Given the description of an element on the screen output the (x, y) to click on. 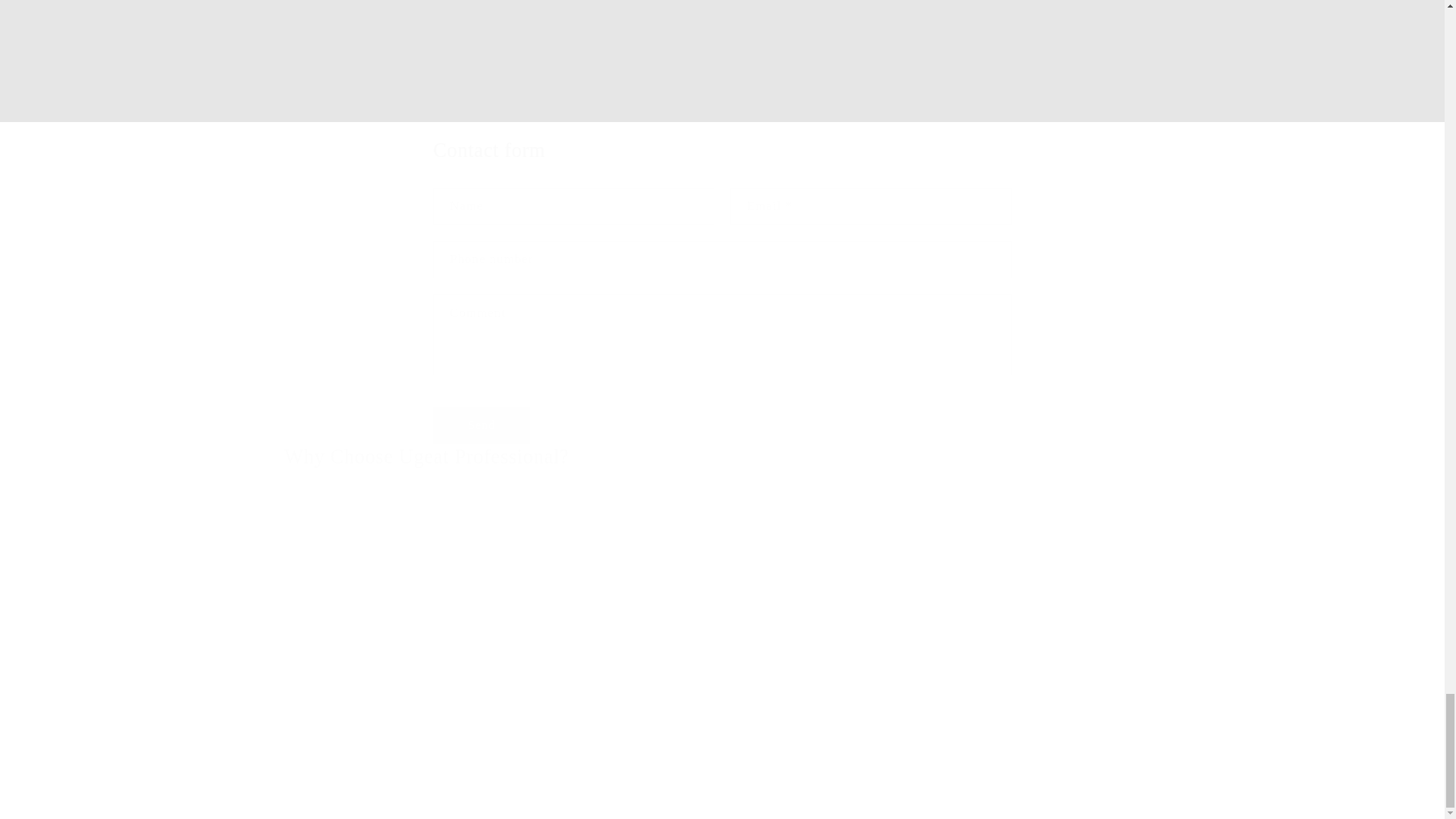
Contact form (721, 150)
